Given the description of an element on the screen output the (x, y) to click on. 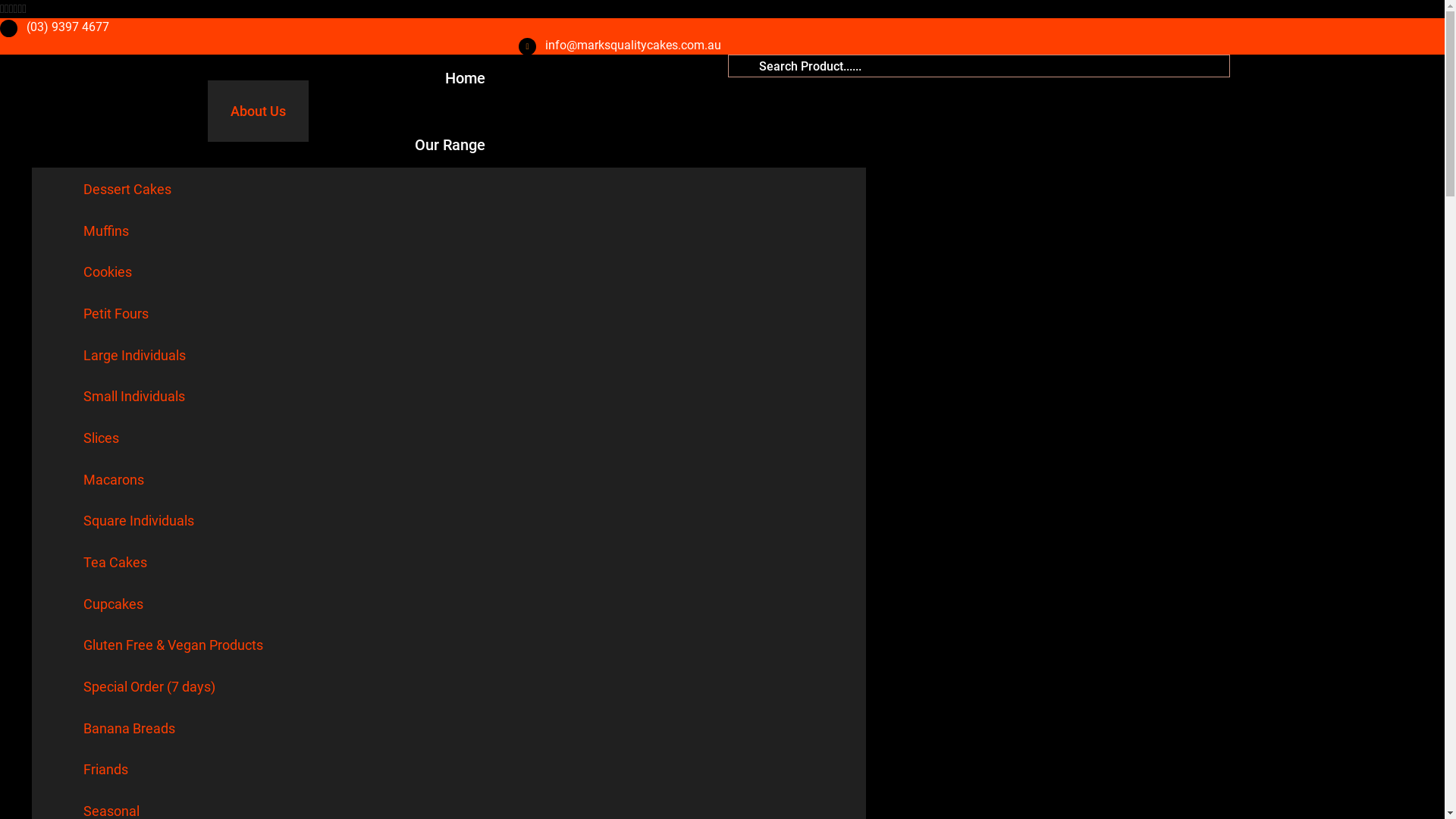
Petit Fours Element type: text (115, 313)
Banana Breads Element type: text (129, 728)
Slices Element type: text (101, 437)
Macarons Element type: text (113, 479)
info@marksqualitycakes.com.au Element type: text (633, 44)
Cookies Element type: text (107, 271)
Cupcakes Element type: text (113, 603)
Square Individuals Element type: text (138, 520)
Tea Cakes Element type: text (115, 562)
Our Range Element type: text (449, 144)
Muffins Element type: text (105, 230)
Friands Element type: text (105, 769)
Large Individuals Element type: text (134, 355)
Home Element type: text (465, 78)
Small Individuals Element type: text (134, 395)
(03) 9397 4677 Element type: text (67, 26)
Special Order (7 days) Element type: text (149, 686)
Dessert Cakes Element type: text (127, 188)
Search Element type: hover (979, 65)
About Us Element type: text (257, 110)
Gluten Free & Vegan Products Element type: text (173, 644)
